Given the description of an element on the screen output the (x, y) to click on. 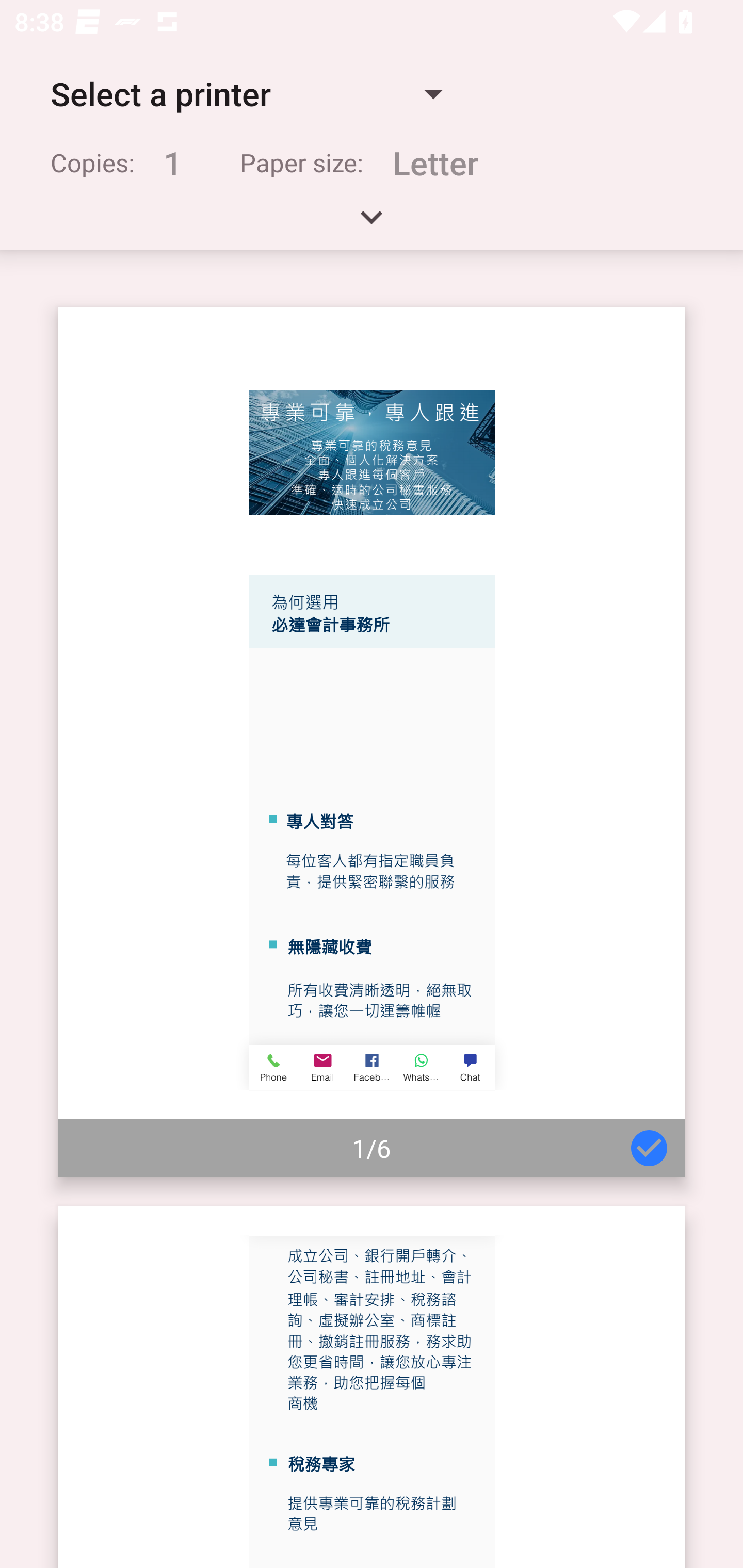
Select a printer (245, 93)
Expand handle (371, 224)
Page 1 of 6 1/6 (371, 742)
Page 2 of 6 (371, 1386)
